Given the description of an element on the screen output the (x, y) to click on. 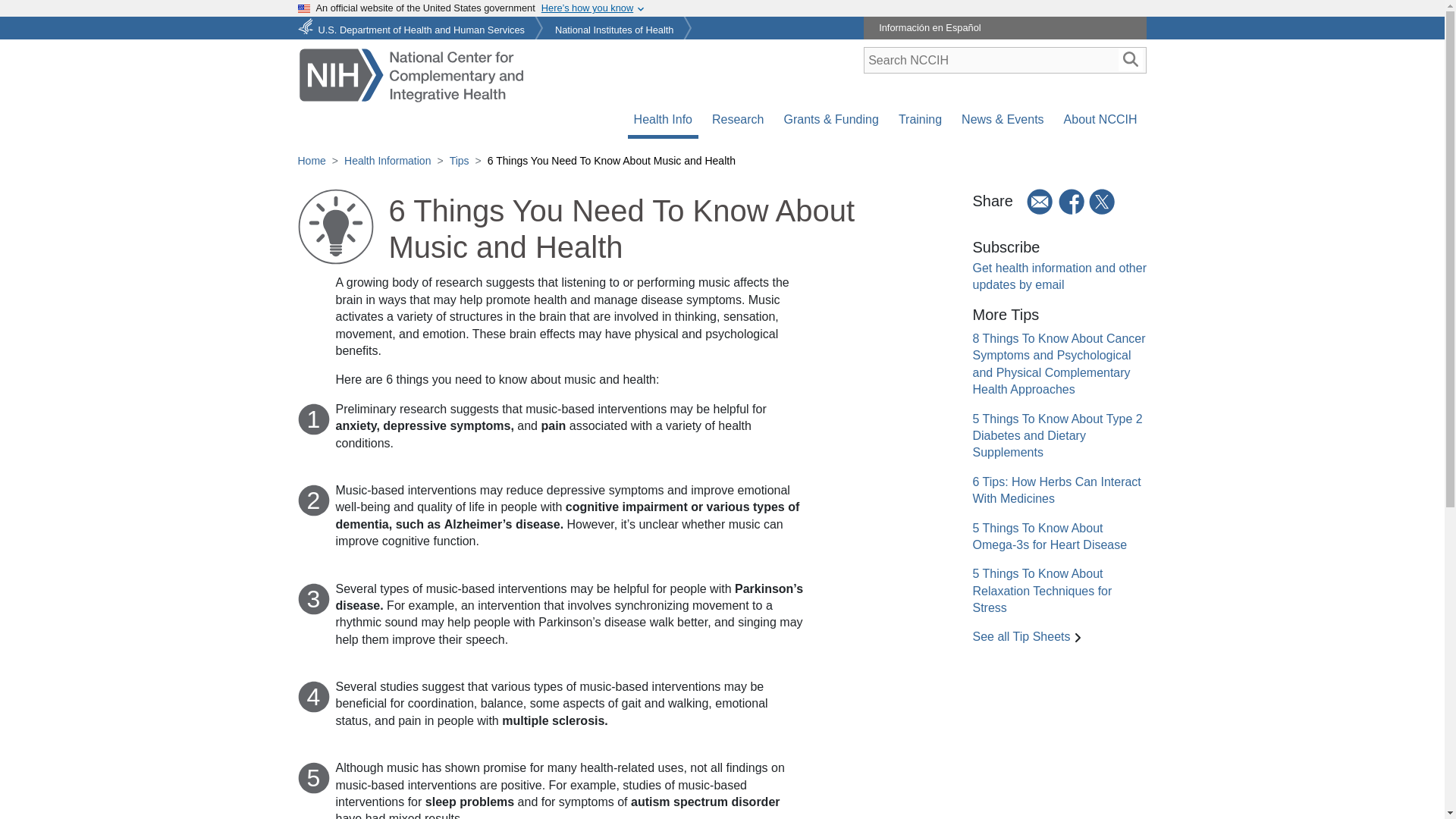
Email a friend (1035, 201)
Share this page on Facebook (1072, 201)
X (1102, 202)
National Center for Complementary and Integrative Health (410, 74)
U.S. Department of Health and Human Services (412, 25)
Post a link to this page (1102, 201)
Research (738, 119)
National Institutes of Health (614, 25)
Email (1035, 202)
National Center for Complementary and Integrative Health (410, 73)
Health Info (662, 119)
Facebook (1072, 202)
